Given the description of an element on the screen output the (x, y) to click on. 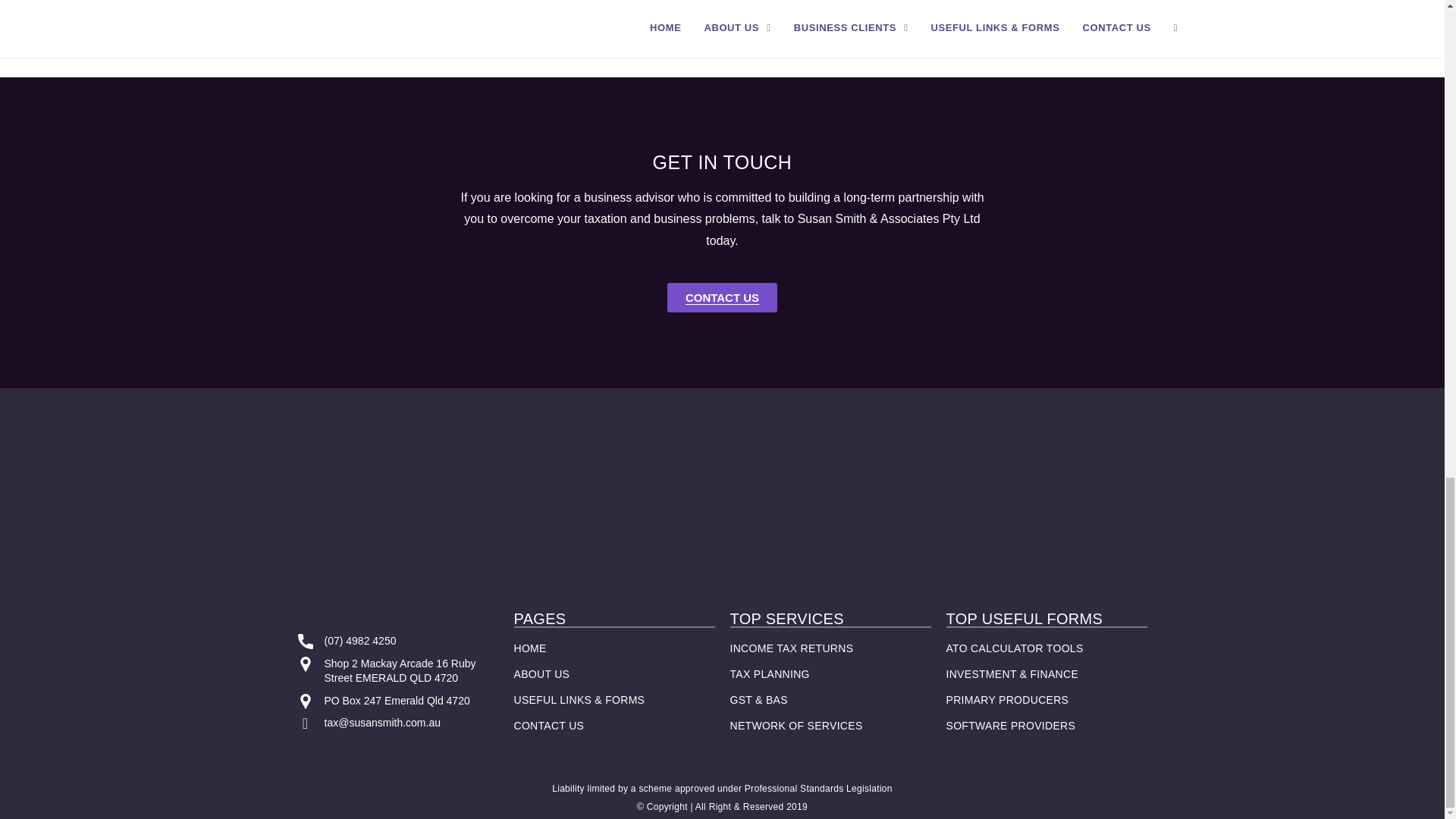
Shop 2 Mackay Arcade 16 Ruby Street EMERALD QLD 4720 (400, 670)
CONTACT US (549, 725)
CONTACT US (721, 297)
HOME (530, 648)
ABOUT US (541, 674)
PO Box 247 Emerald Qld 4720 (397, 700)
INCOME TAX RETURNS (791, 648)
